Given the description of an element on the screen output the (x, y) to click on. 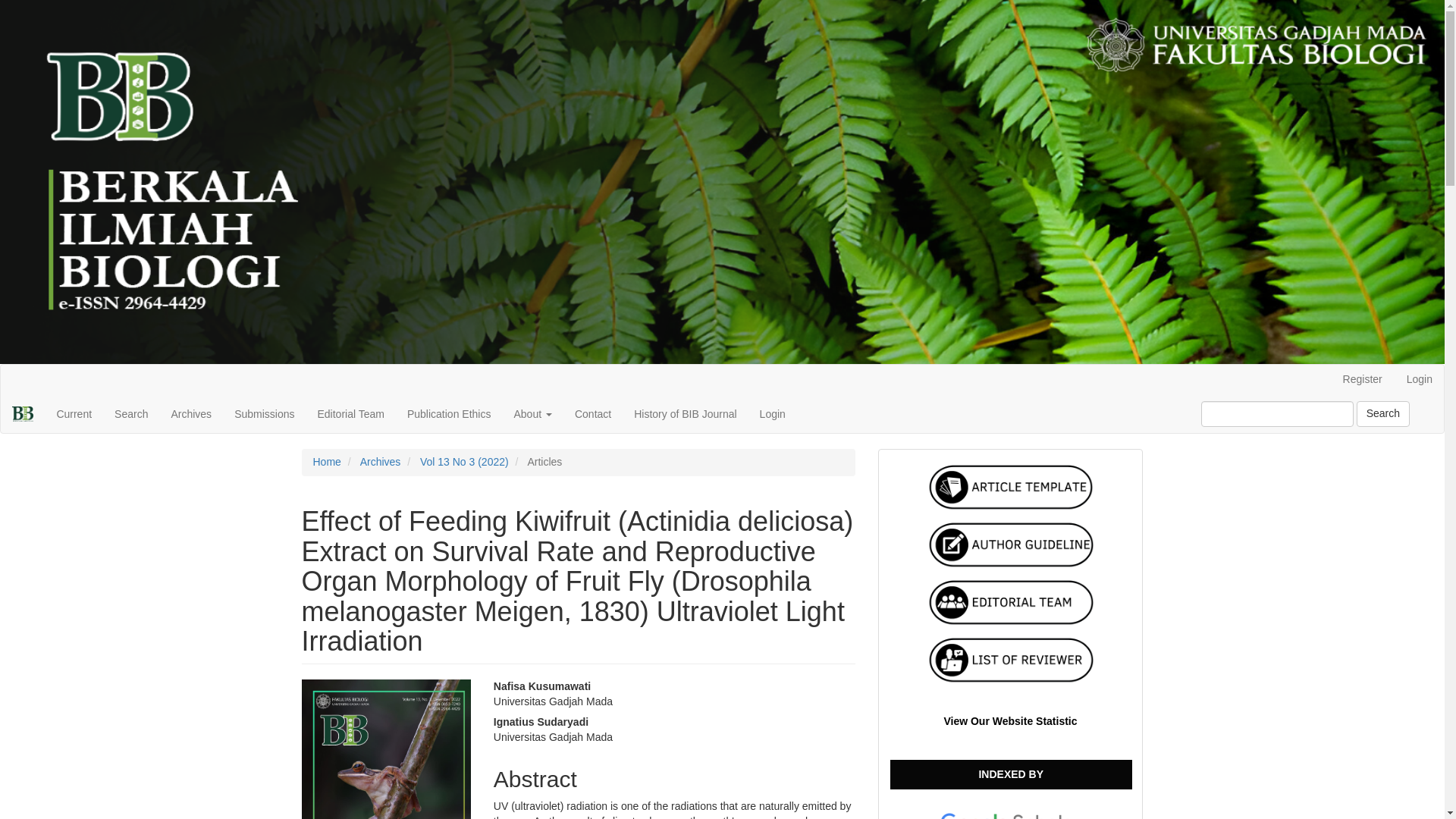
Editorial Team (350, 413)
Register (1362, 379)
Publication Ethics (449, 413)
Search (130, 413)
Contact (593, 413)
Home (326, 461)
Current (74, 413)
Archives (190, 413)
Search (1382, 413)
Submissions (263, 413)
Login (772, 413)
History of BIB Journal (685, 413)
Login (1419, 379)
About (532, 413)
